Given the description of an element on the screen output the (x, y) to click on. 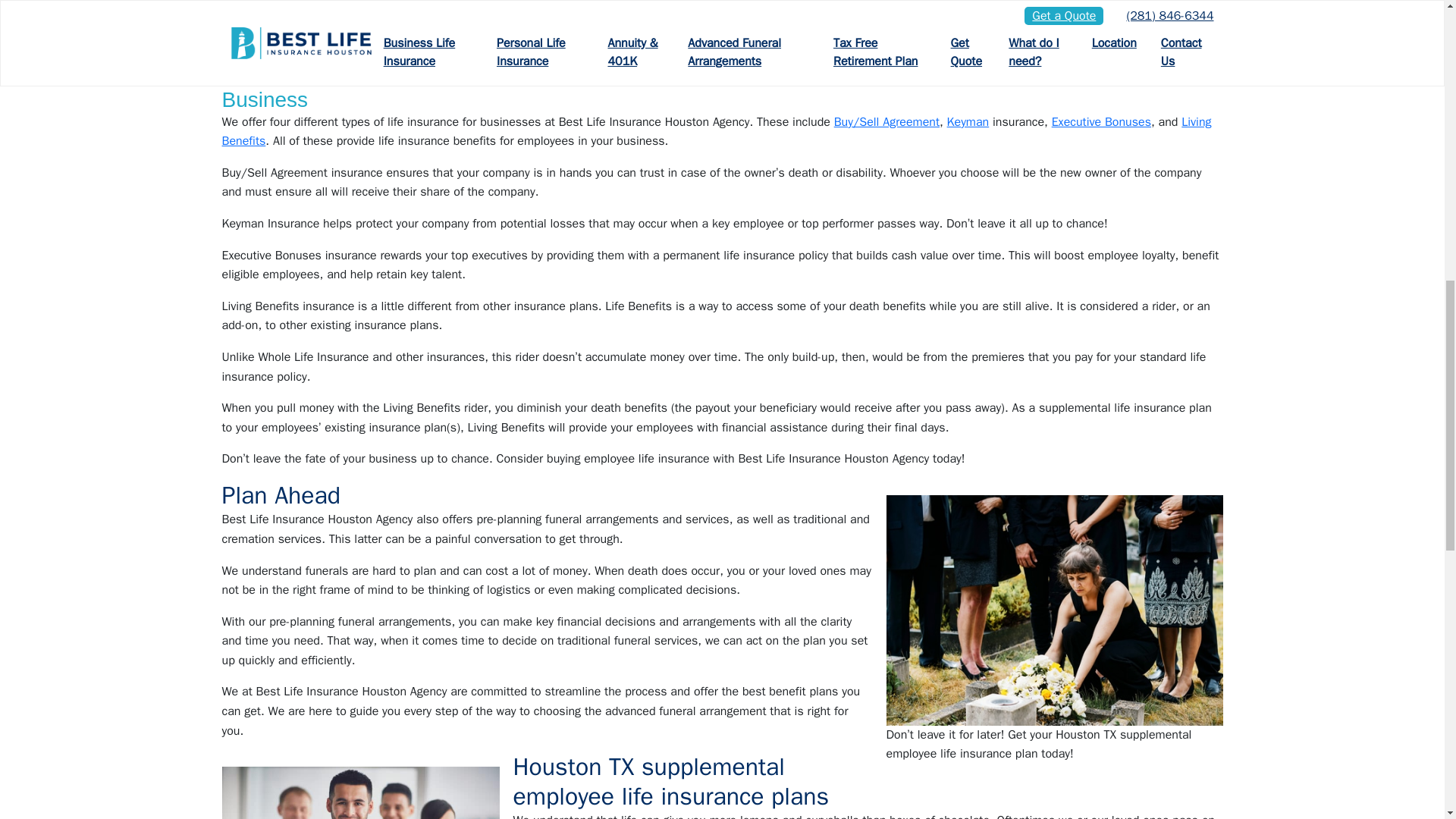
Executive Bonuses (1101, 121)
Keyman (968, 121)
